Given the description of an element on the screen output the (x, y) to click on. 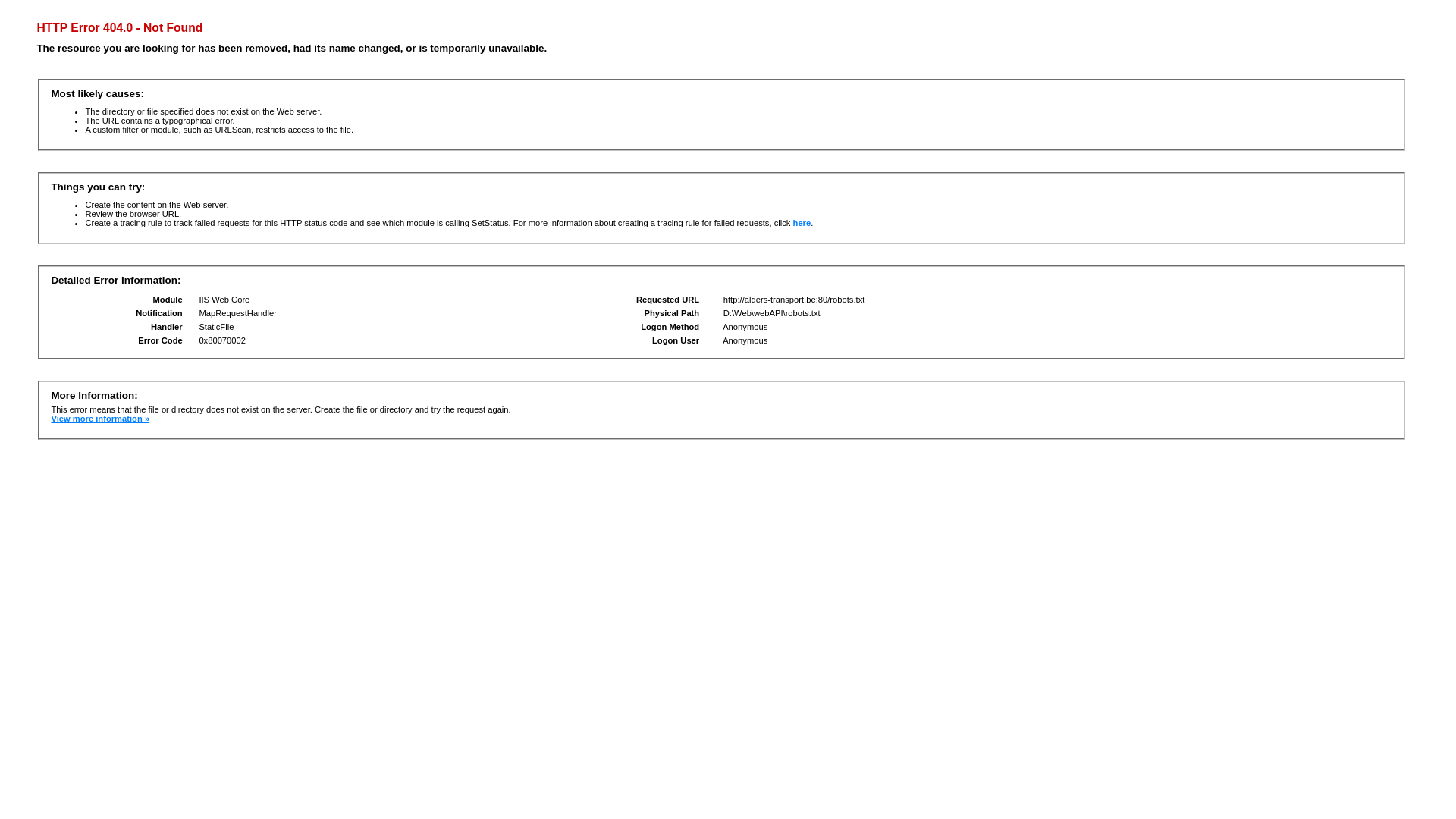
here Element type: text (802, 222)
